Given the description of an element on the screen output the (x, y) to click on. 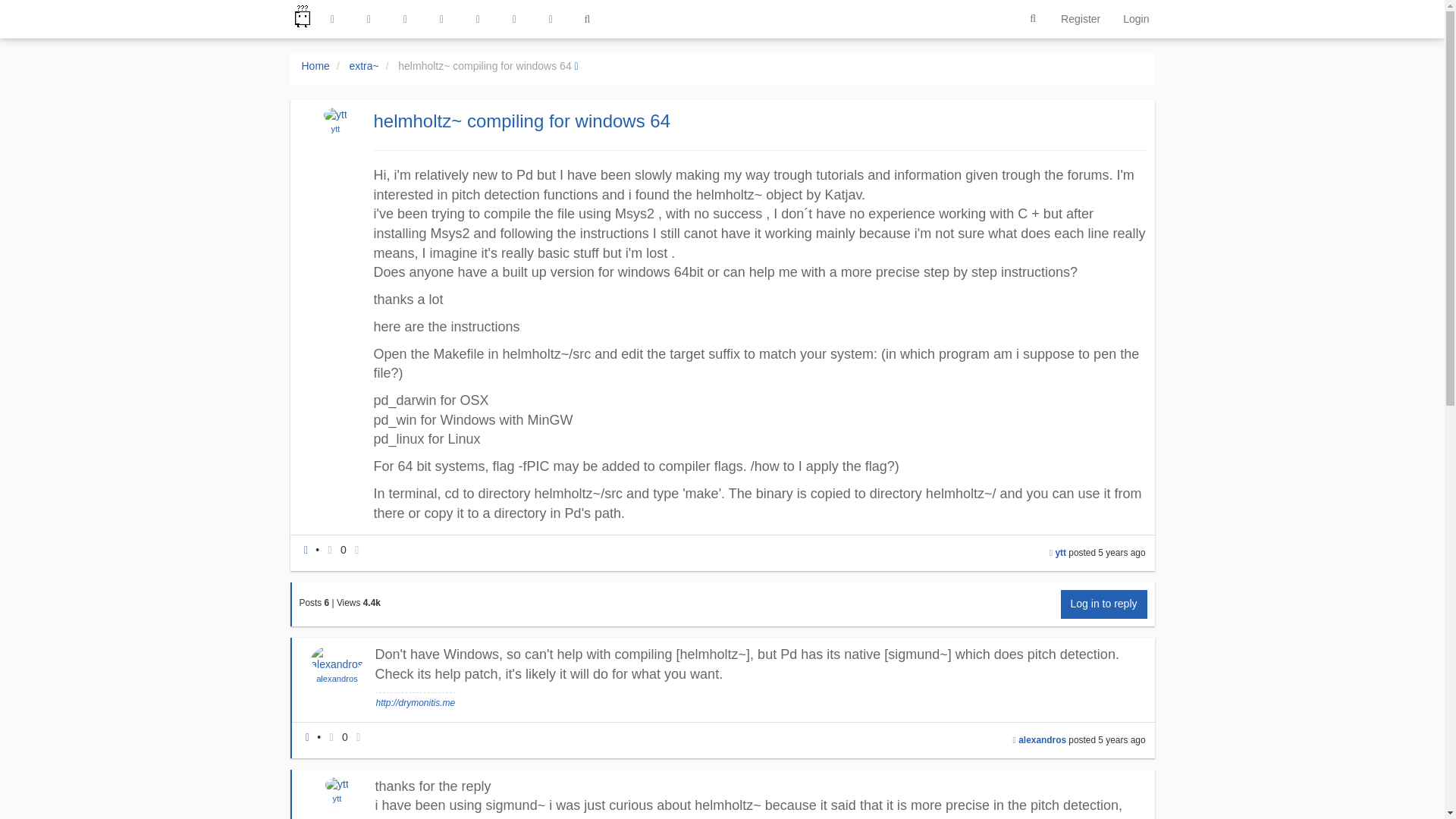
alexandros (336, 678)
4377 (371, 602)
Login (1136, 18)
ytt (335, 128)
Register (1080, 18)
6 (327, 602)
Search (1032, 18)
ytt (335, 128)
ytt (1061, 552)
Home (315, 65)
Log in to reply (1104, 604)
